Given the description of an element on the screen output the (x, y) to click on. 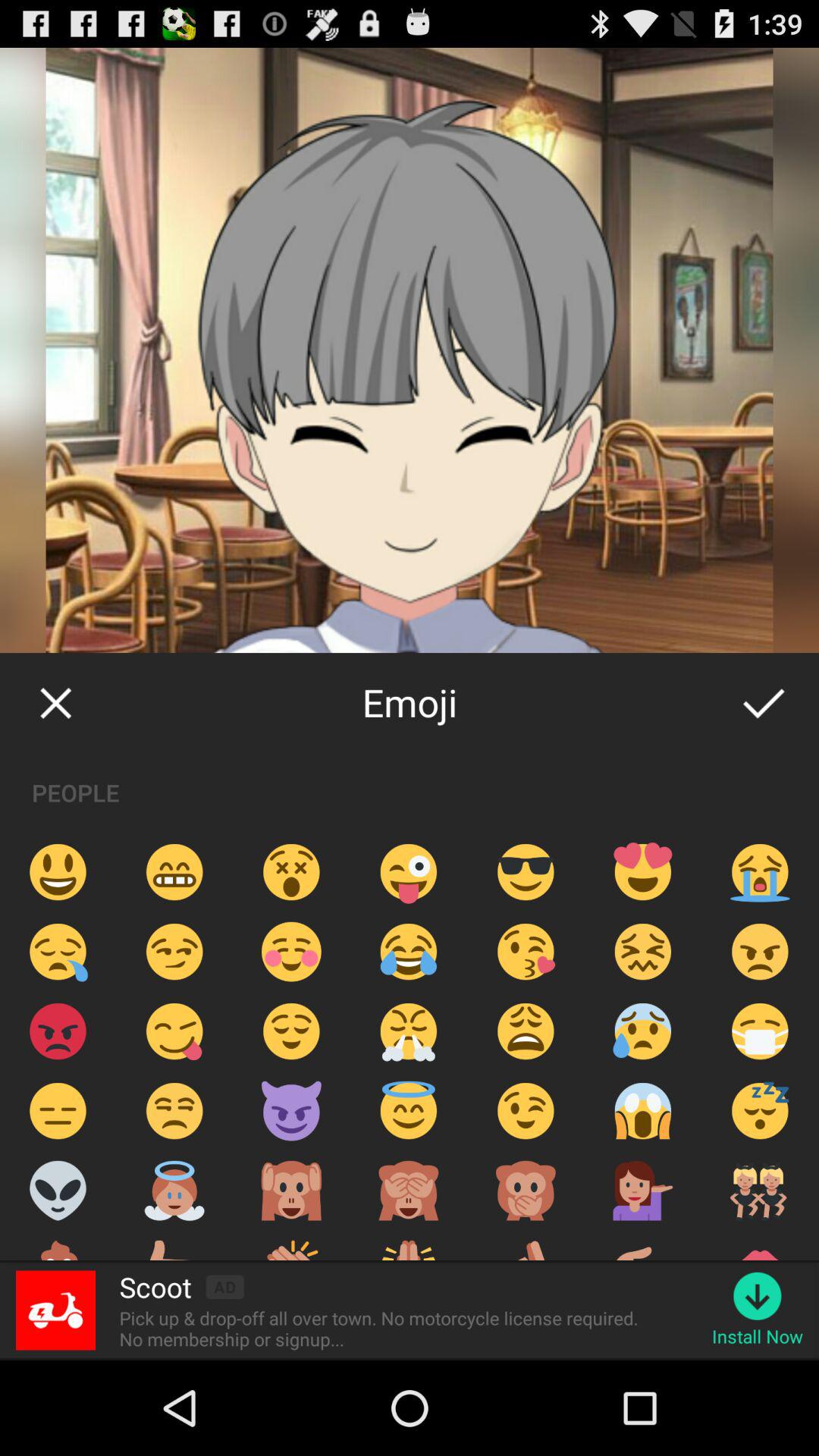
choose app to the left of install now icon (383, 1328)
